Given the description of an element on the screen output the (x, y) to click on. 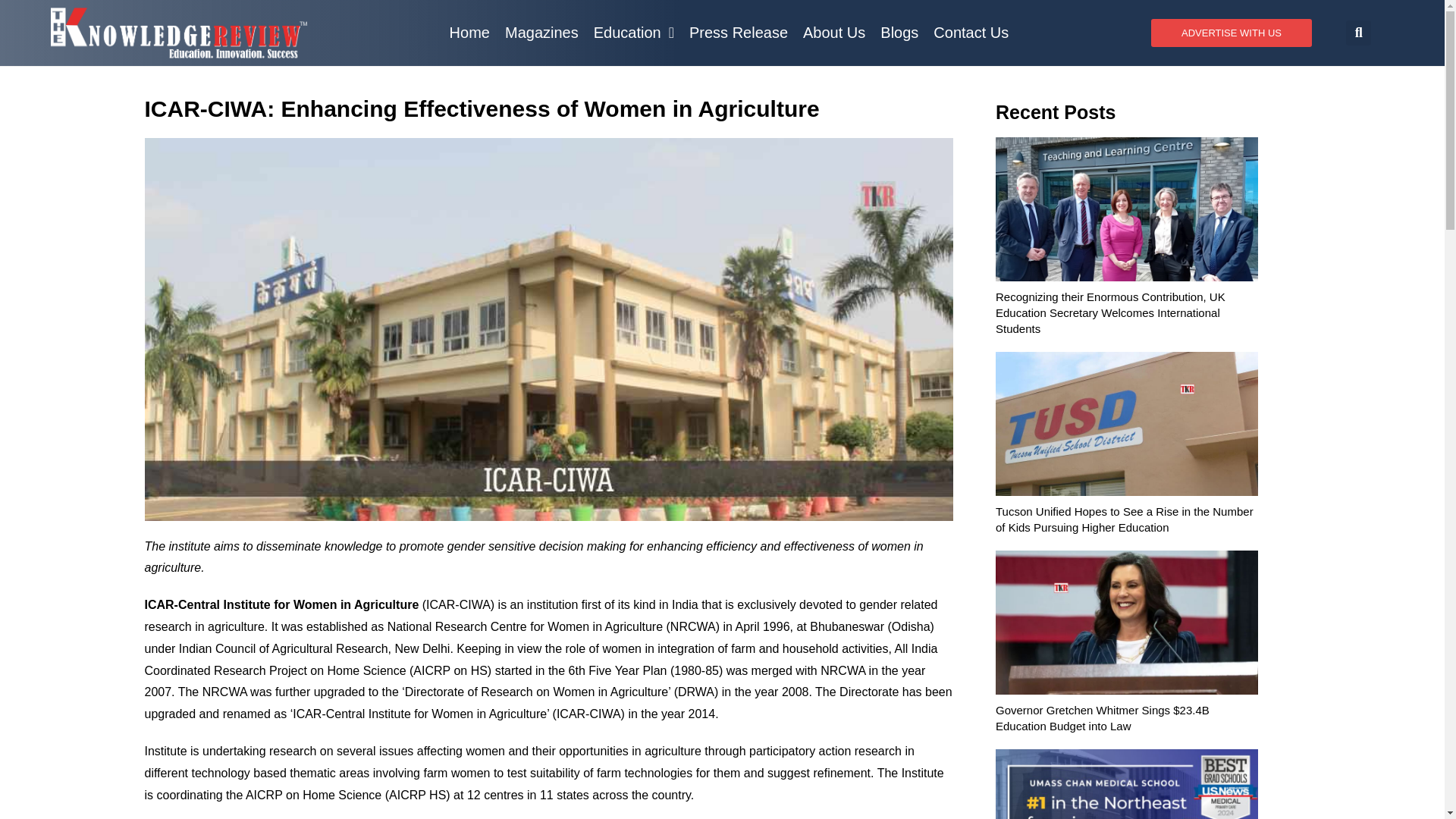
Press Release (737, 32)
Blogs (899, 32)
Magazines (541, 32)
Education (633, 32)
ADVERTISE WITH US (1232, 32)
Home (469, 32)
About Us (833, 32)
Contact Us (971, 32)
